Given the description of an element on the screen output the (x, y) to click on. 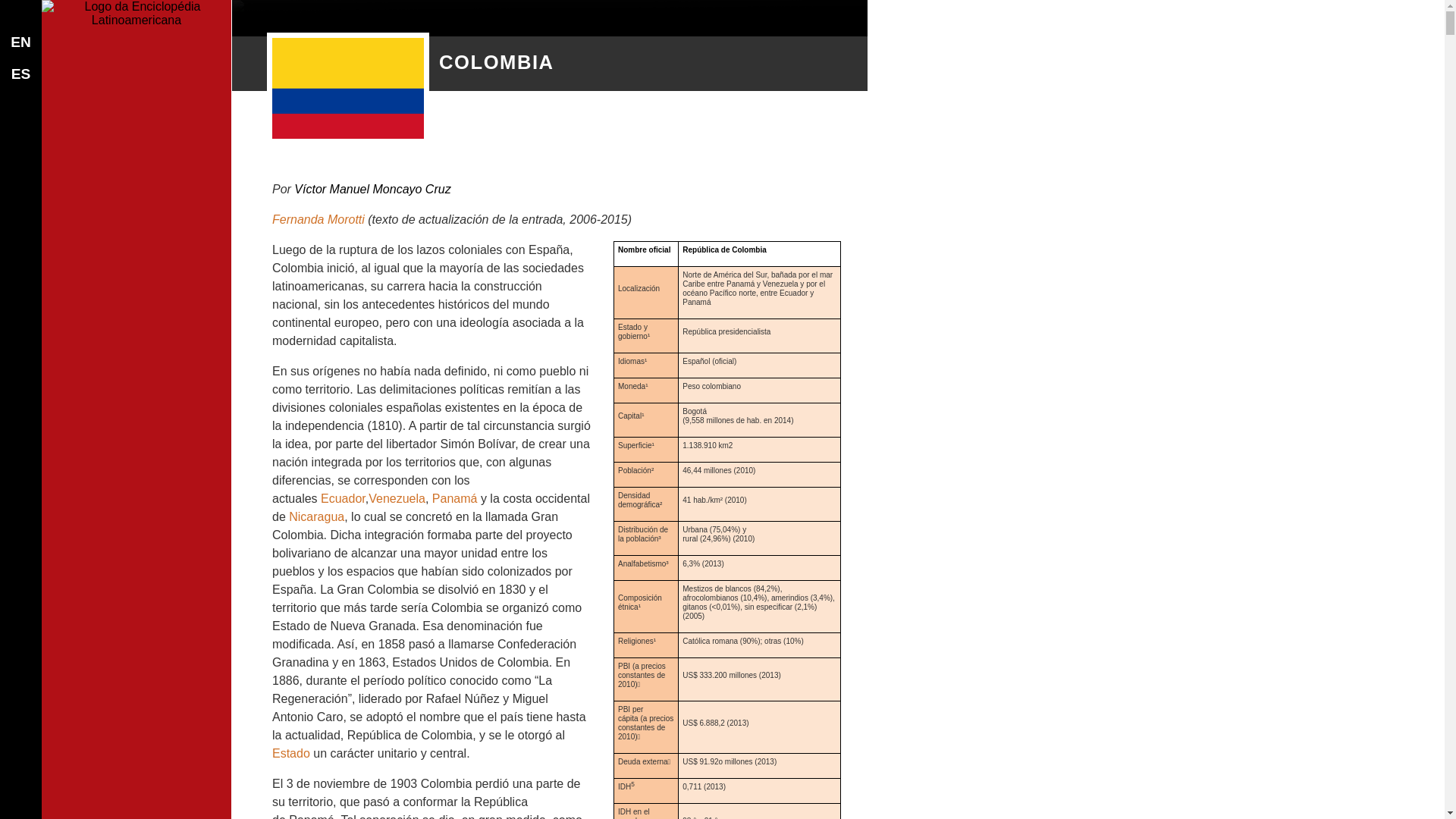
Estado Element type: text (291, 752)
Fernanda Morotti Element type: text (318, 219)
Colombia Element type: hover (347, 87)
ES Element type: text (21, 73)
Colombia Element type: hover (263, 9)
EN Element type: text (20, 42)
Nicaragua Element type: text (316, 516)
Ecuador Element type: text (342, 498)
Venezuela Element type: text (396, 498)
